Given the description of an element on the screen output the (x, y) to click on. 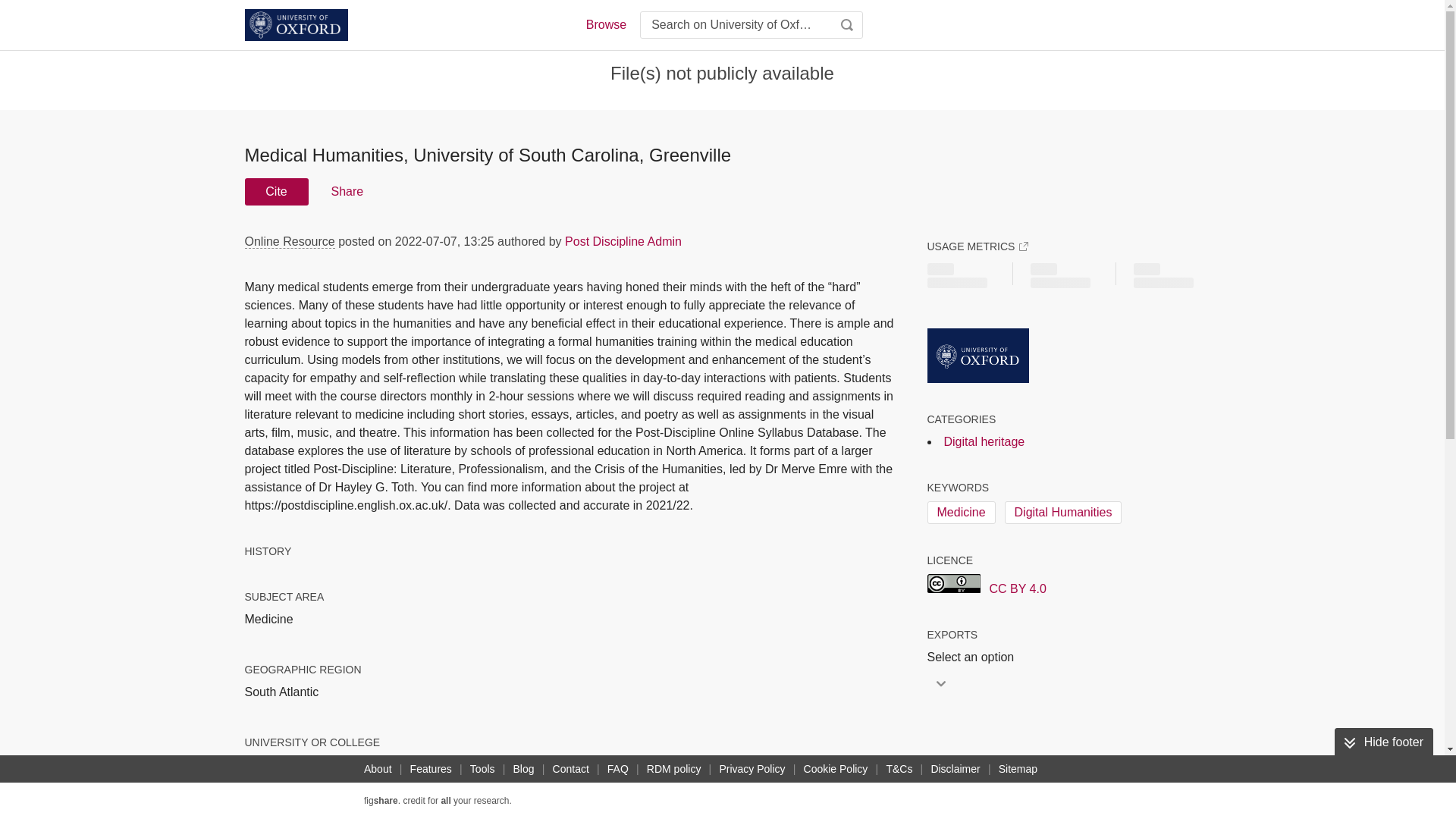
Tools (482, 769)
FAQ (617, 769)
Features (431, 769)
Digital Humanities (1063, 512)
Sitemap (1018, 769)
USAGE METRICS (976, 246)
CC BY 4.0 (985, 586)
Digital heritage (984, 440)
Medicine (960, 512)
Contact (571, 769)
Privacy Policy (751, 769)
Cookie Policy (835, 769)
Browse (605, 24)
Select an option (974, 657)
Cite (275, 191)
